Given the description of an element on the screen output the (x, y) to click on. 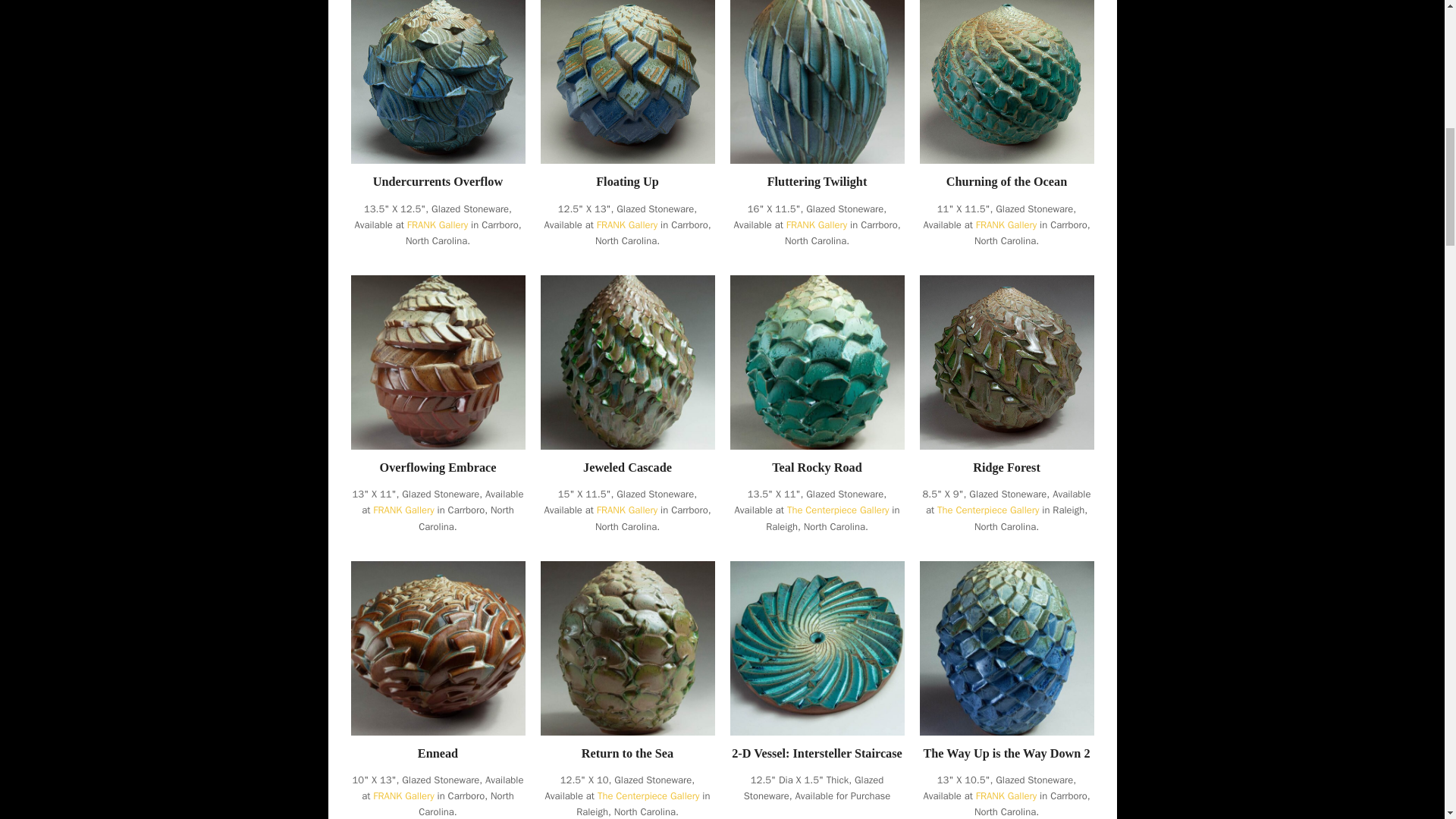
Ennead (437, 646)
Floating Up (627, 75)
FRANK Gallery (437, 224)
Churning of the Ocean (1006, 182)
Churning of the Ocean (1005, 75)
FRANK Gallery (627, 509)
FRANK Gallery (816, 224)
Ridge Forest (1005, 360)
Teal Rocky Road (816, 468)
Undercurrents Overflow (437, 182)
FRANK Gallery (402, 509)
The Way Up is the Way Down 2 (1005, 646)
Fluttering Twilight (816, 75)
FRANK Gallery (1005, 224)
Overflowing Embrace (438, 468)
